Given the description of an element on the screen output the (x, y) to click on. 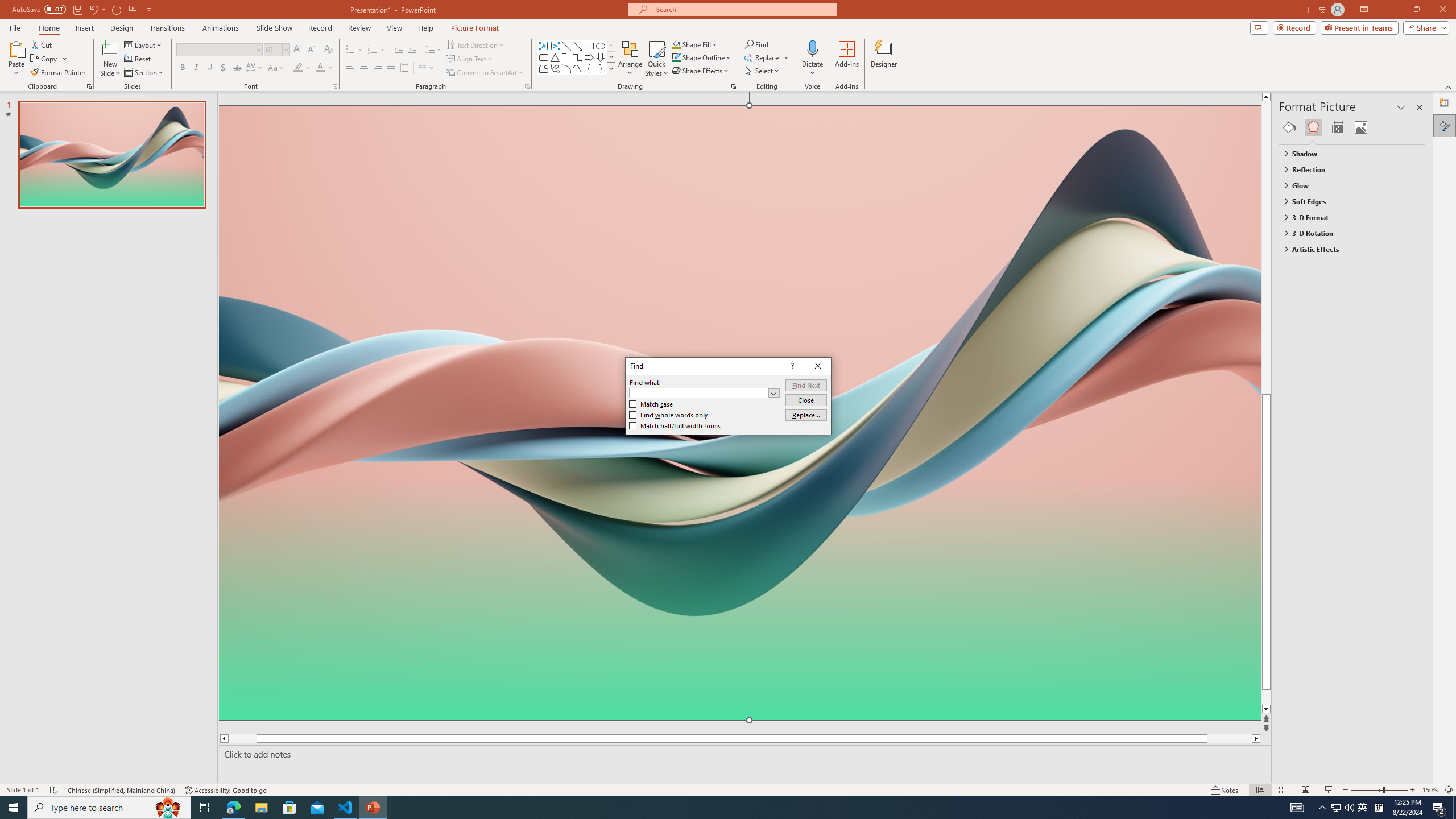
Shape Fill Orange, Accent 2 (675, 44)
Insert (83, 28)
Increase Font Size (297, 49)
Strikethrough (237, 67)
Ribbon Display Options (1364, 9)
Close pane (1419, 107)
Open (773, 392)
Rectangle (589, 45)
Slide Notes (742, 754)
New Slide (110, 48)
File Tab (15, 27)
Visual Studio Code - 1 running window (345, 807)
Show desktop (1454, 807)
Zoom (1379, 790)
